Given the description of an element on the screen output the (x, y) to click on. 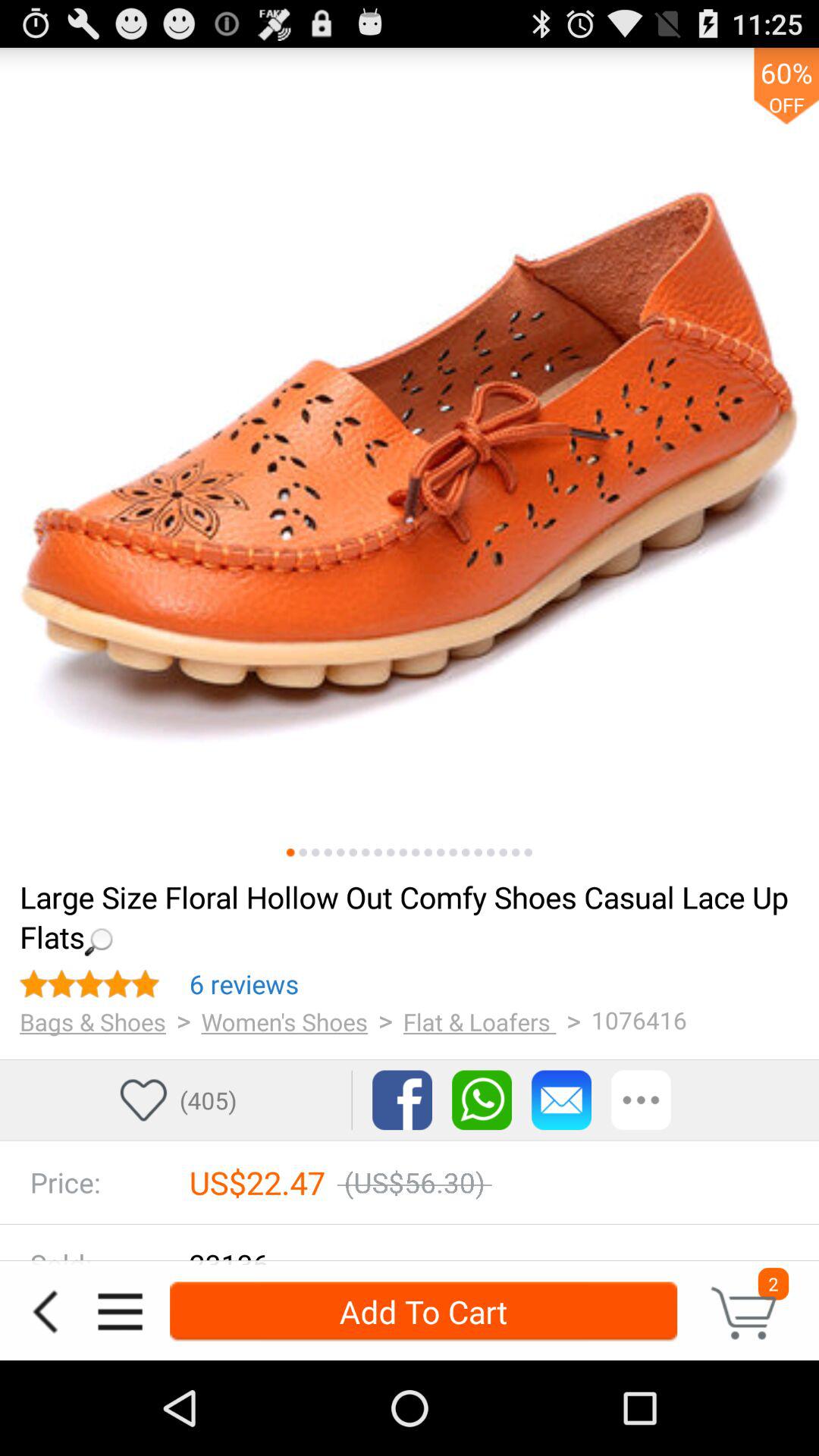
go to 12th photo in carousel (428, 852)
